Given the description of an element on the screen output the (x, y) to click on. 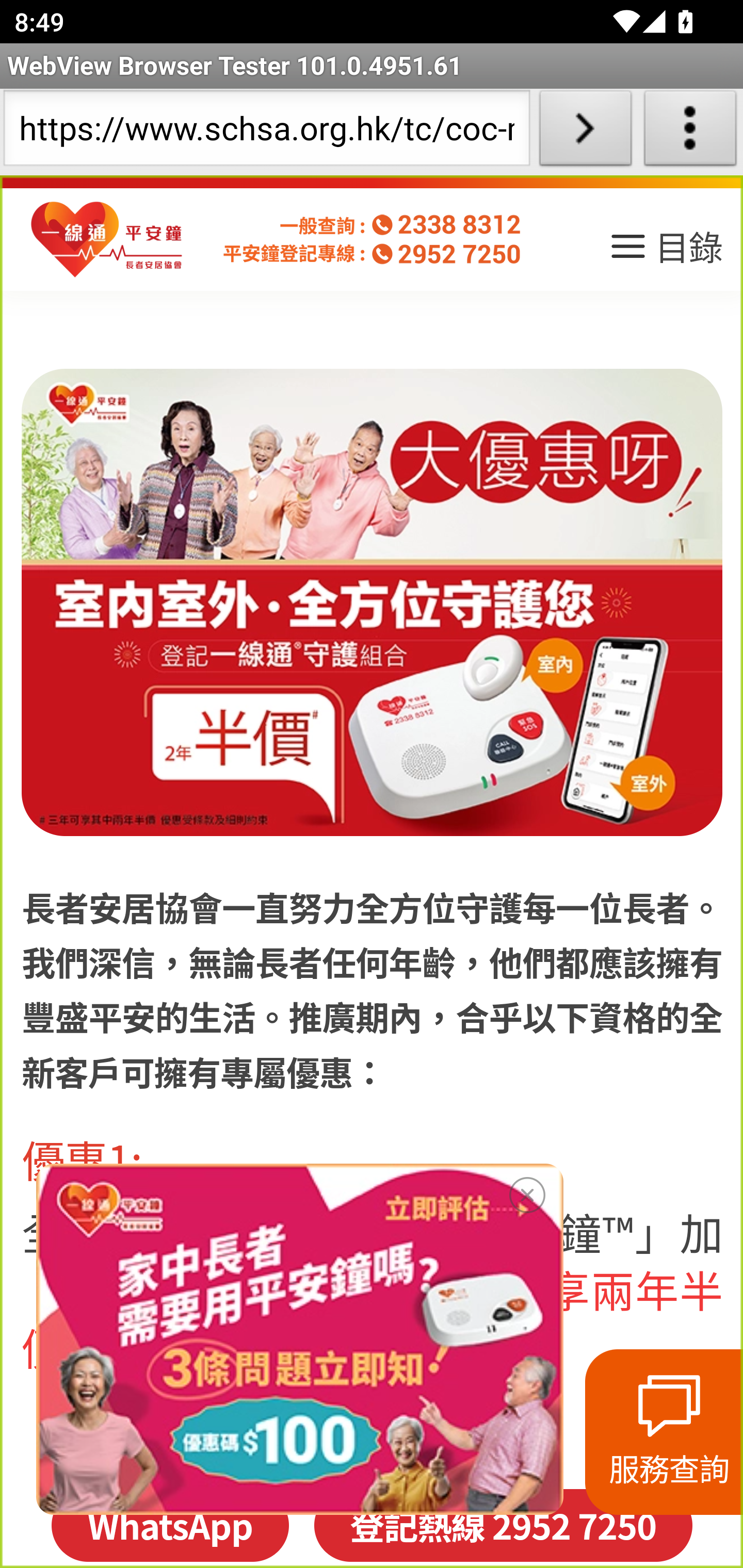
Load URL (585, 132)
About WebView (690, 132)
homepage (107, 240)
目錄 (665, 252)
Dec Coupon Code Allsize Popup 300x200 Yescta (299, 1338)
site.close (526, 1191)
服務查詢 (664, 1432)
